Given the description of an element on the screen output the (x, y) to click on. 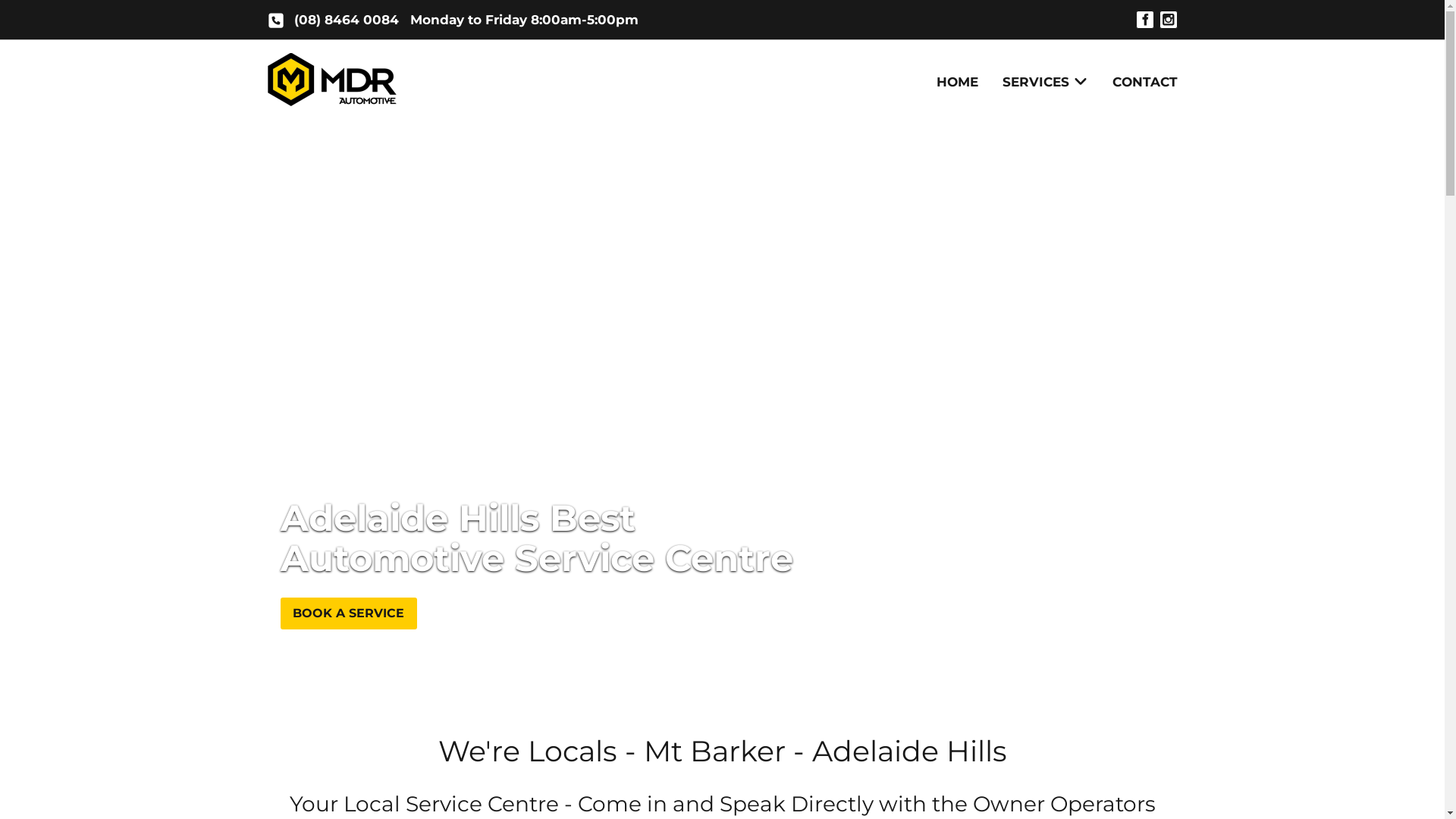
Instagram Element type: hover (1167, 19)
(08) 8464 0084   Monday to Friday 8:00am-5:00pm Element type: text (466, 19)
Facebook Element type: hover (1144, 19)
SERVICES Element type: text (1045, 81)
HOME Element type: text (956, 81)
CONTACT Element type: text (1137, 81)
BOOK A SERVICE Element type: text (348, 613)
